Given the description of an element on the screen output the (x, y) to click on. 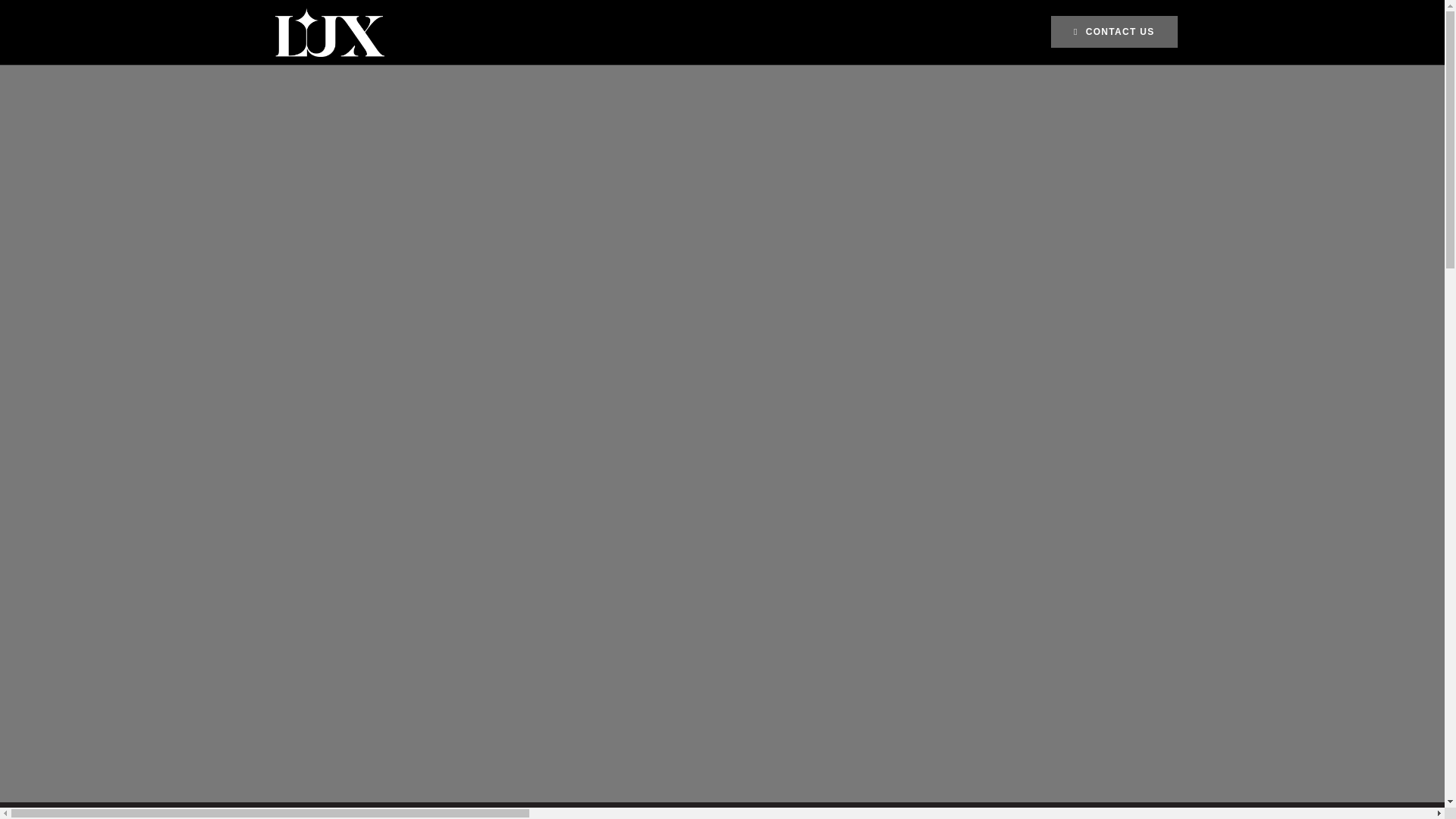
CONTACT US (1113, 31)
